Given the description of an element on the screen output the (x, y) to click on. 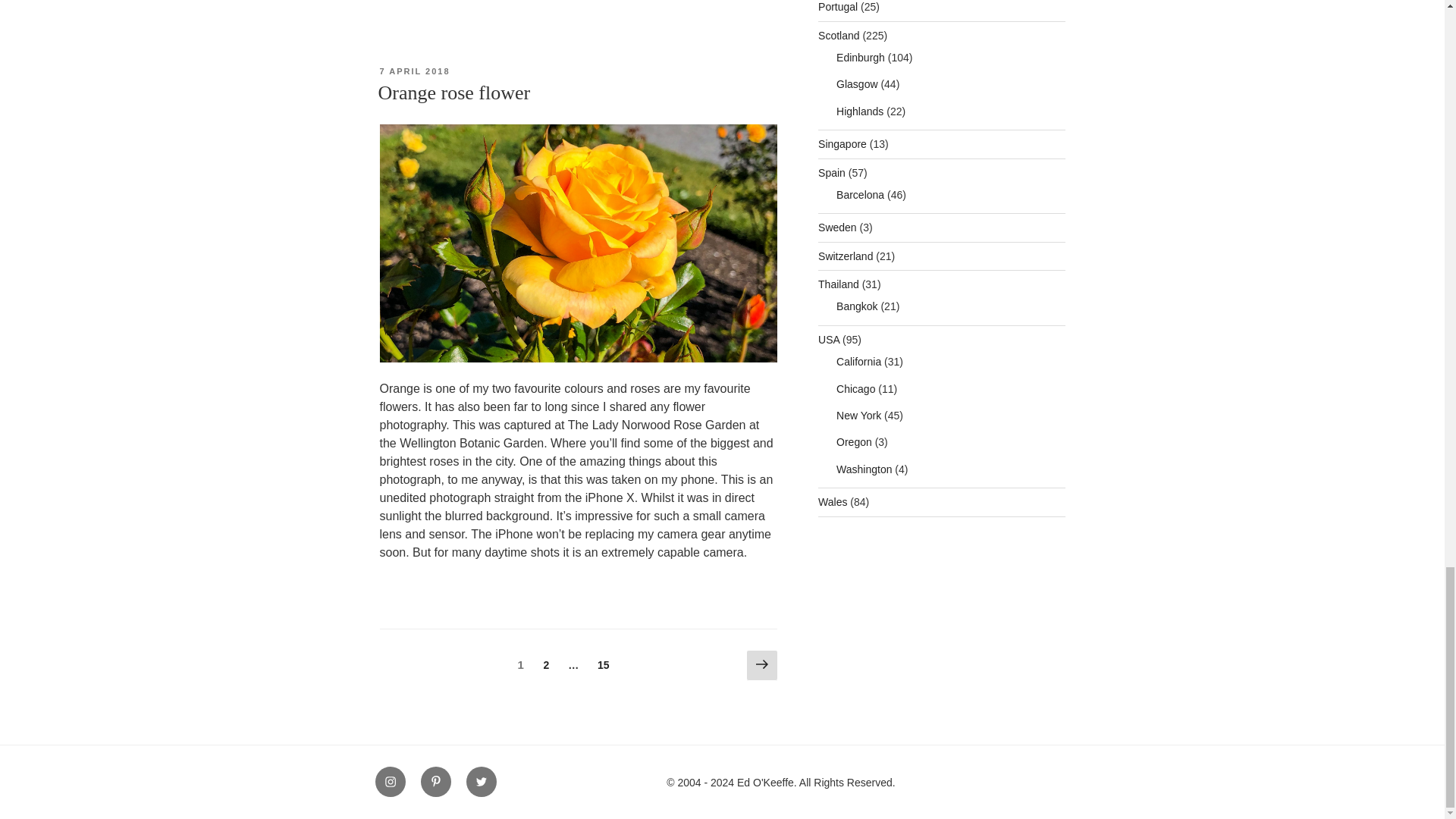
7 APRIL 2018 (413, 71)
Next page (603, 664)
Orange rose flower (761, 665)
